Given the description of an element on the screen output the (x, y) to click on. 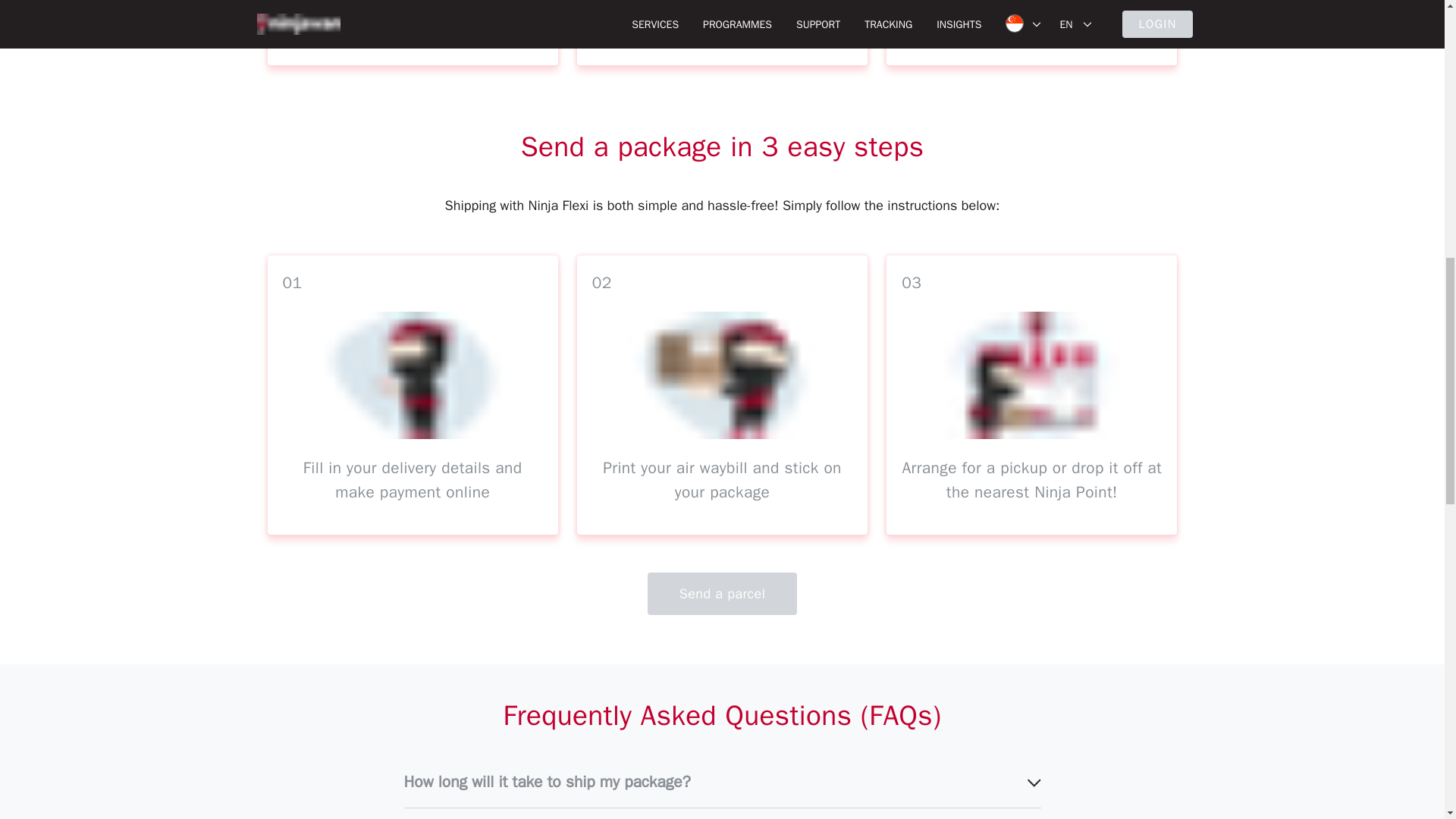
Send a parcel (722, 583)
Send a parcel (722, 593)
